Given the description of an element on the screen output the (x, y) to click on. 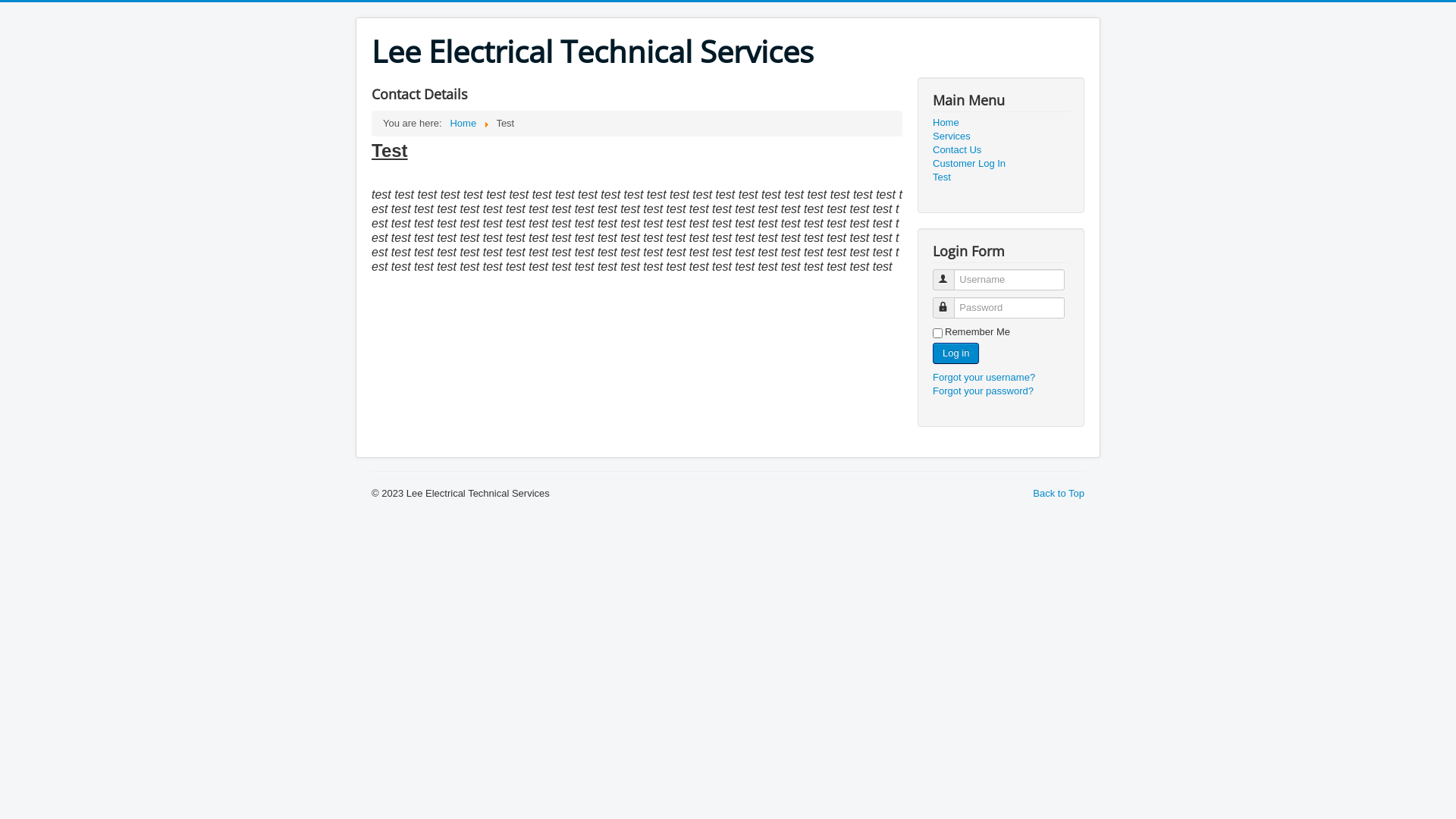
Home Element type: text (462, 122)
Log in Element type: text (955, 353)
Lee Electrical Technical Services Element type: text (592, 51)
Contact Us Element type: text (1000, 149)
Services Element type: text (1000, 136)
Forgot your password? Element type: text (982, 390)
Customer Log In Element type: text (1000, 163)
Home Element type: text (1000, 122)
Password Element type: hover (942, 306)
Back to Top Element type: text (1058, 492)
Forgot your username? Element type: text (983, 376)
Test Element type: text (1000, 177)
Username Element type: hover (942, 278)
